Given the description of an element on the screen output the (x, y) to click on. 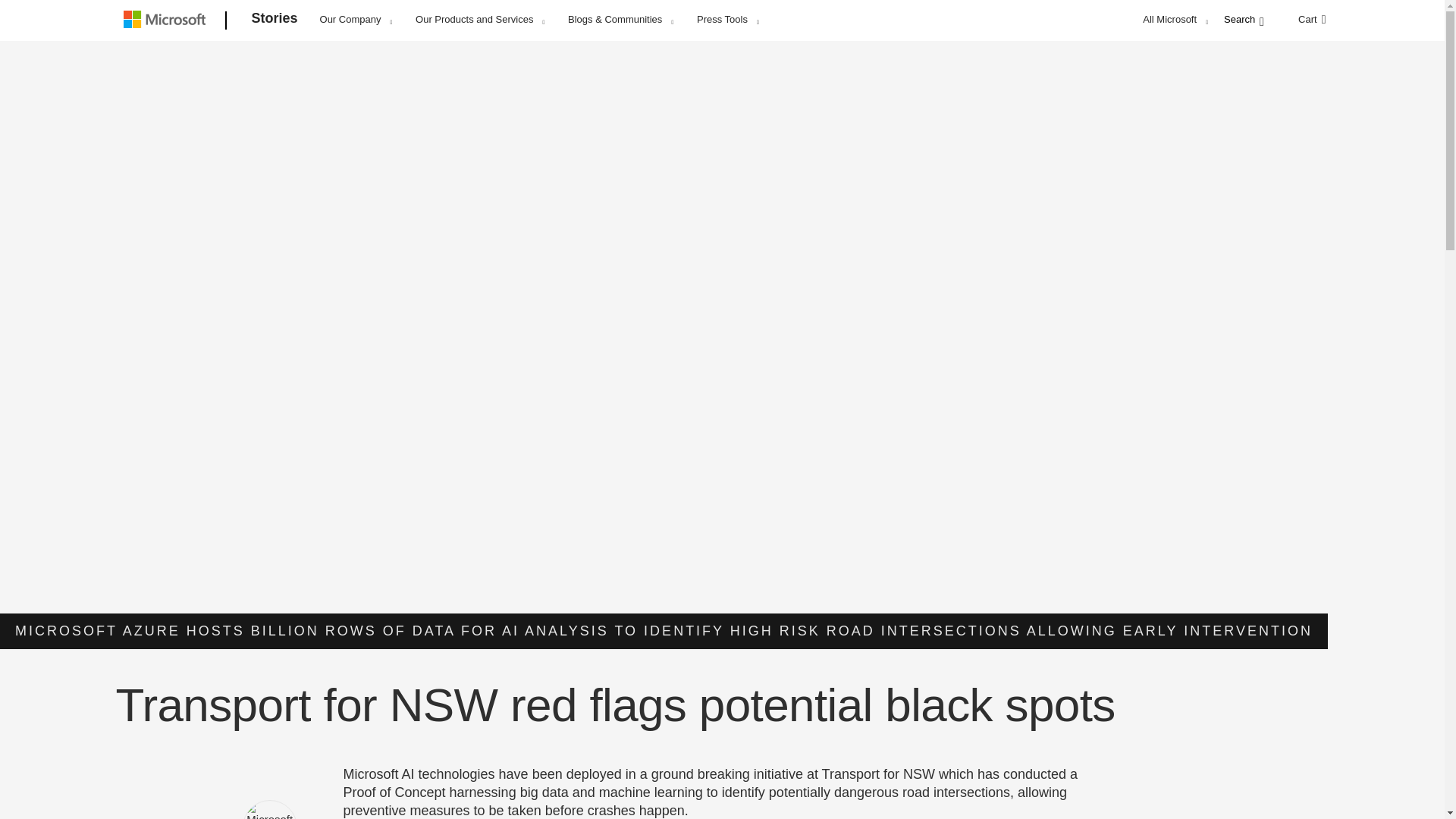
Microsoft (167, 20)
Our Products and Services (479, 18)
Stories (274, 20)
Our Company (355, 18)
